Given the description of an element on the screen output the (x, y) to click on. 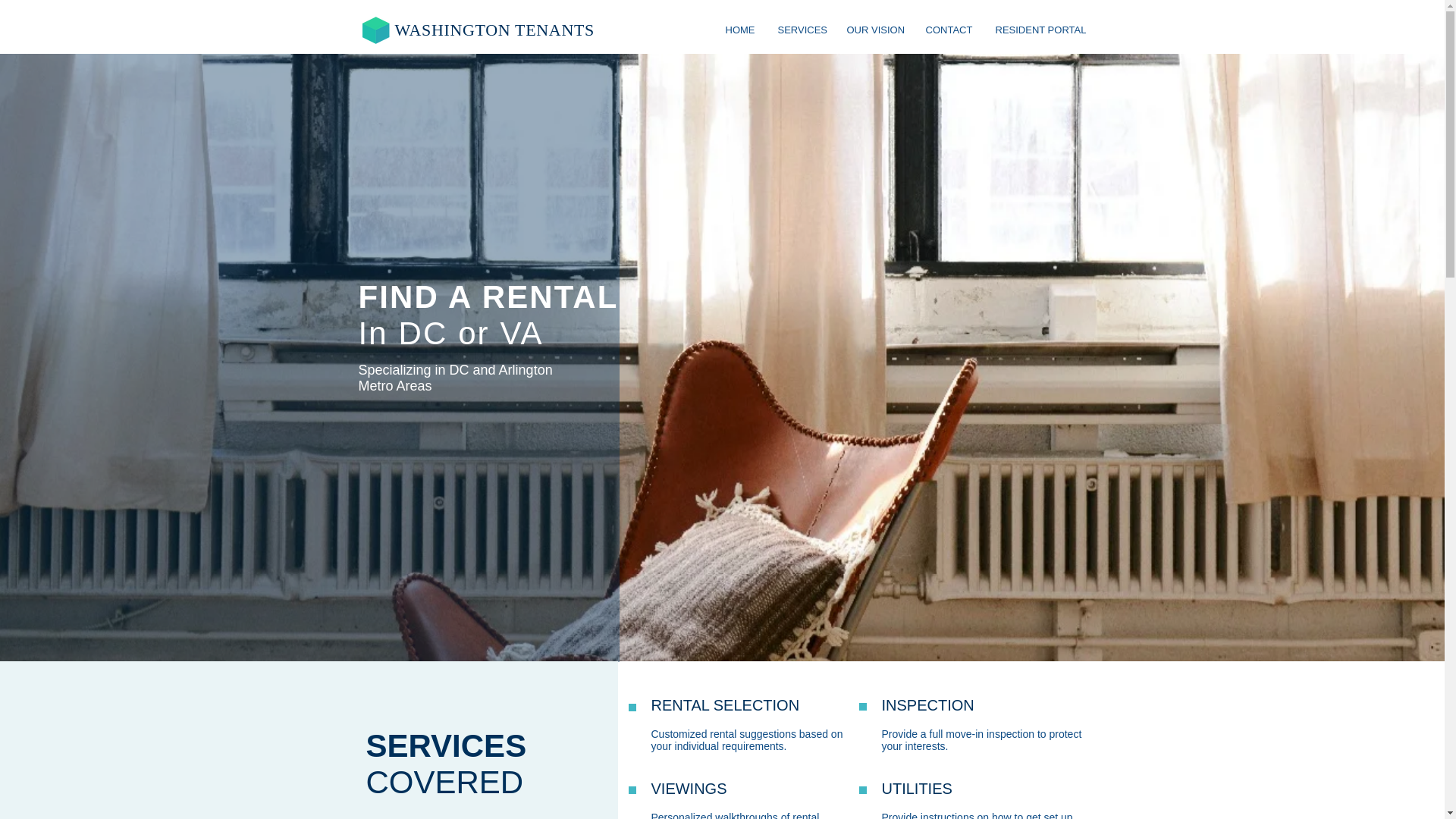
RESIDENT PORTAL (1039, 29)
HOME (740, 29)
CONTACT (949, 29)
OUR VISION (874, 29)
SERVICES (799, 29)
